Given the description of an element on the screen output the (x, y) to click on. 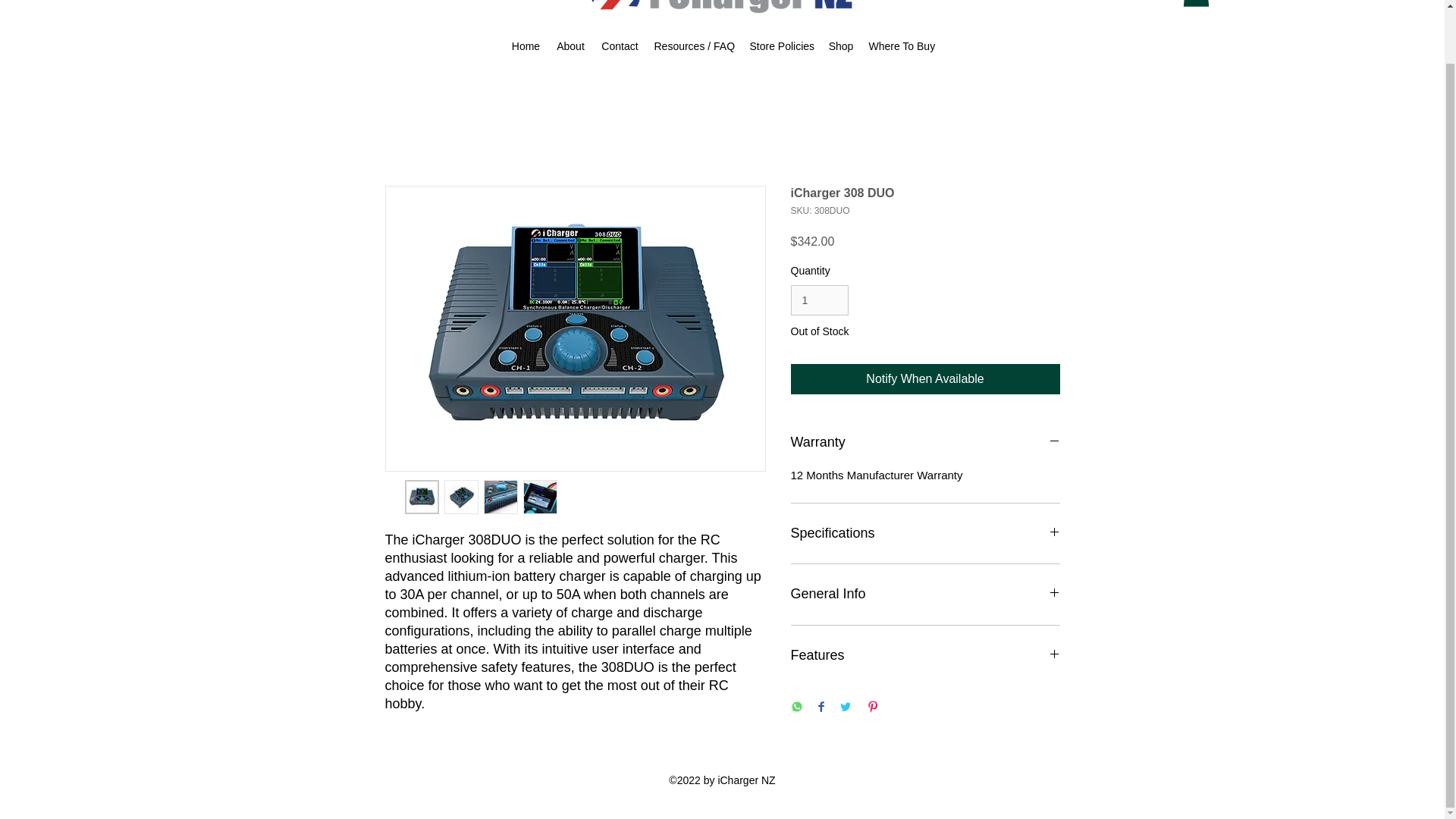
Shop (840, 46)
About (569, 46)
Specifications (924, 533)
Notify When Available (924, 378)
Where To Buy (901, 46)
Store Policies (781, 46)
Contact (619, 46)
1 (818, 300)
Home (525, 46)
General Info (924, 594)
